Given the description of an element on the screen output the (x, y) to click on. 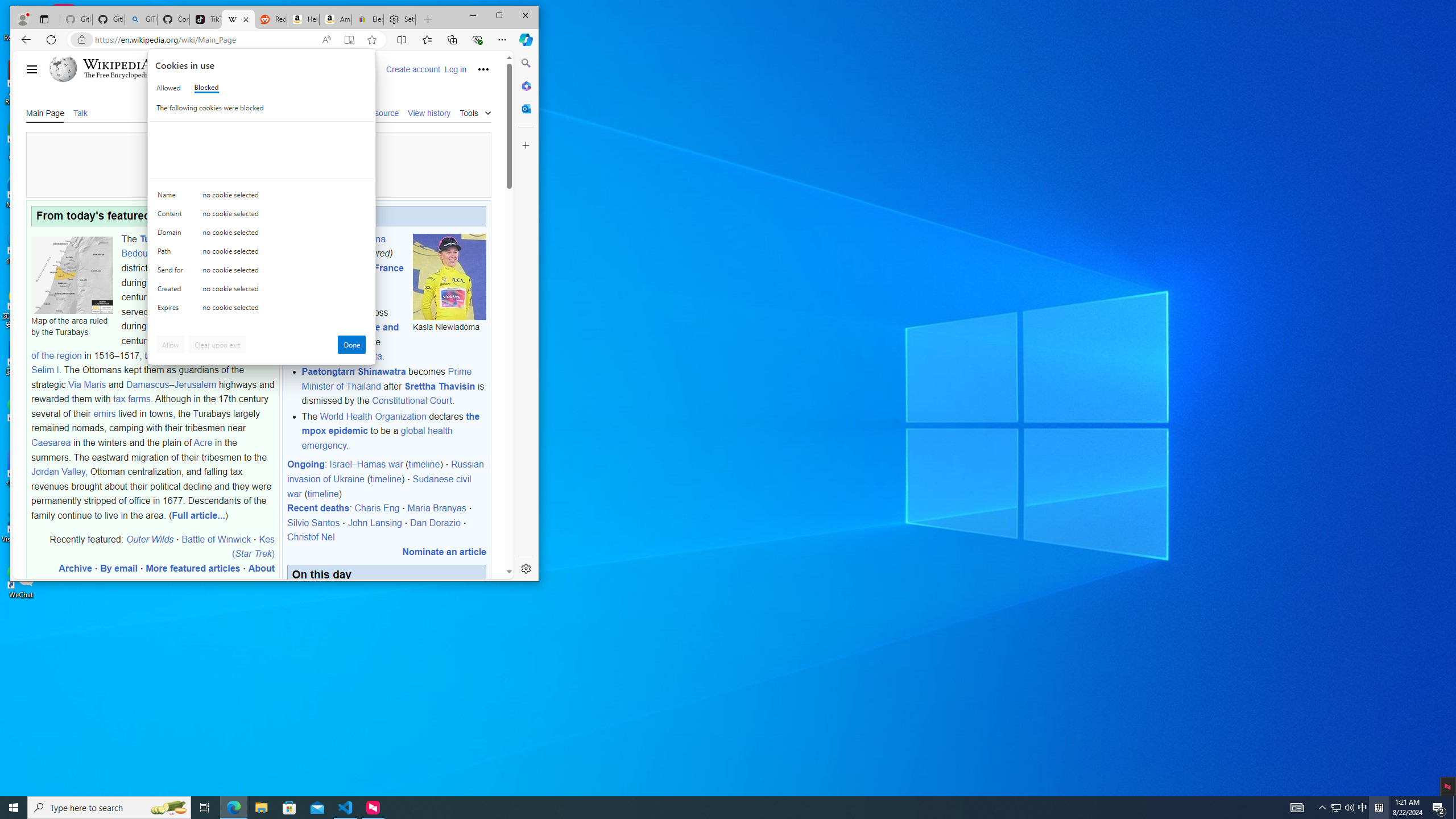
Show desktop (1454, 807)
Visual Studio Code - 1 running window (345, 807)
Clear upon exit (217, 344)
Microsoft Edge - 1 running window (233, 807)
Blocked (1335, 807)
Class: c0153 c0157 (206, 87)
Name (261, 309)
Content (172, 197)
Search highlights icon opens search home window (172, 216)
File Explorer (167, 807)
User Promoted Notification Area (261, 807)
no cookie selected (1342, 807)
